Given the description of an element on the screen output the (x, y) to click on. 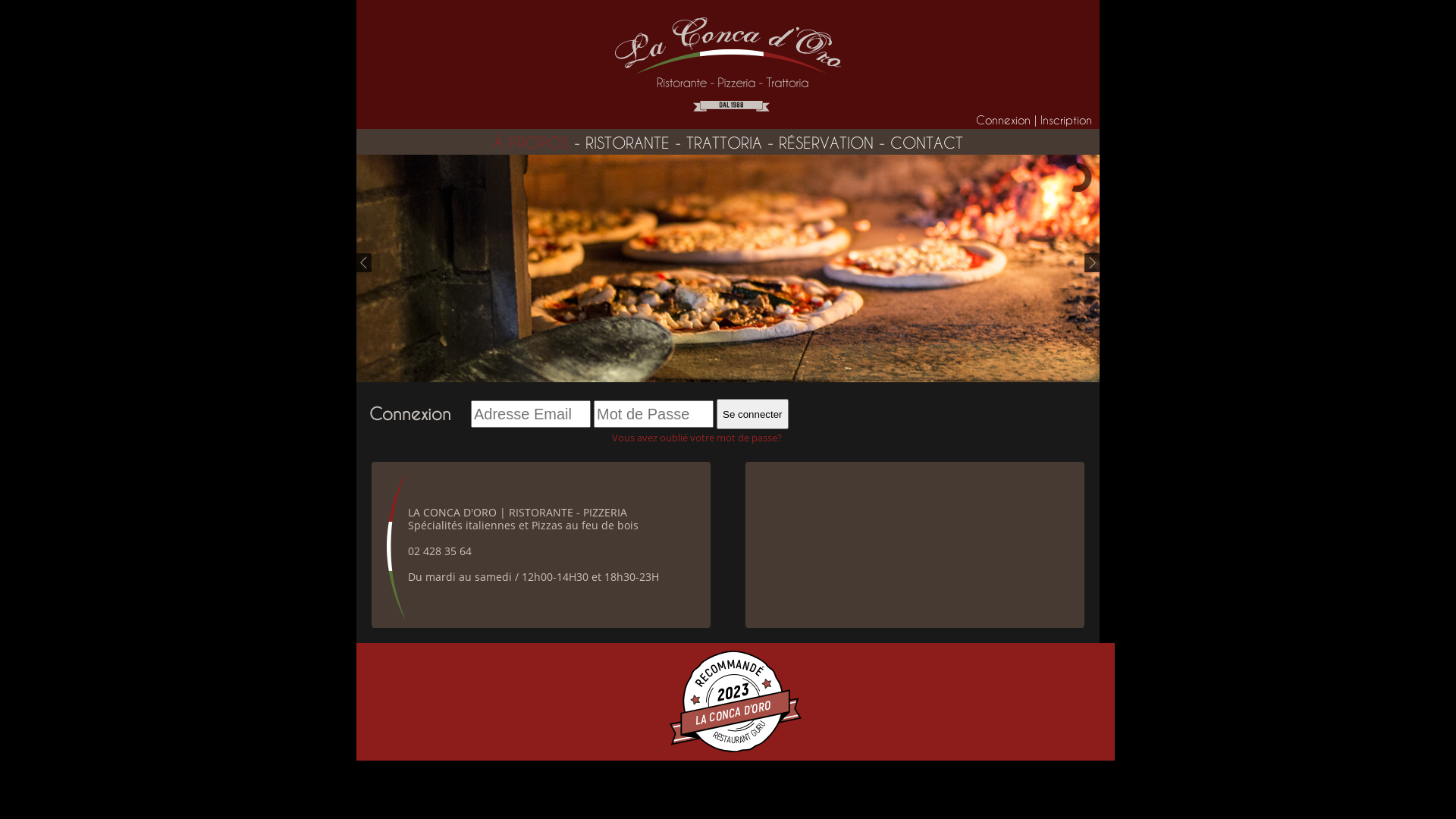
LA CONCA D'ORO Element type: text (731, 701)
Se connecter Element type: text (752, 413)
CONTACT Element type: text (926, 142)
Connexion Element type: text (1002, 119)
RISTORANTE Element type: text (627, 142)
TRATTORIA Element type: text (723, 142)
Inscription Element type: text (1066, 119)
